Given the description of an element on the screen output the (x, y) to click on. 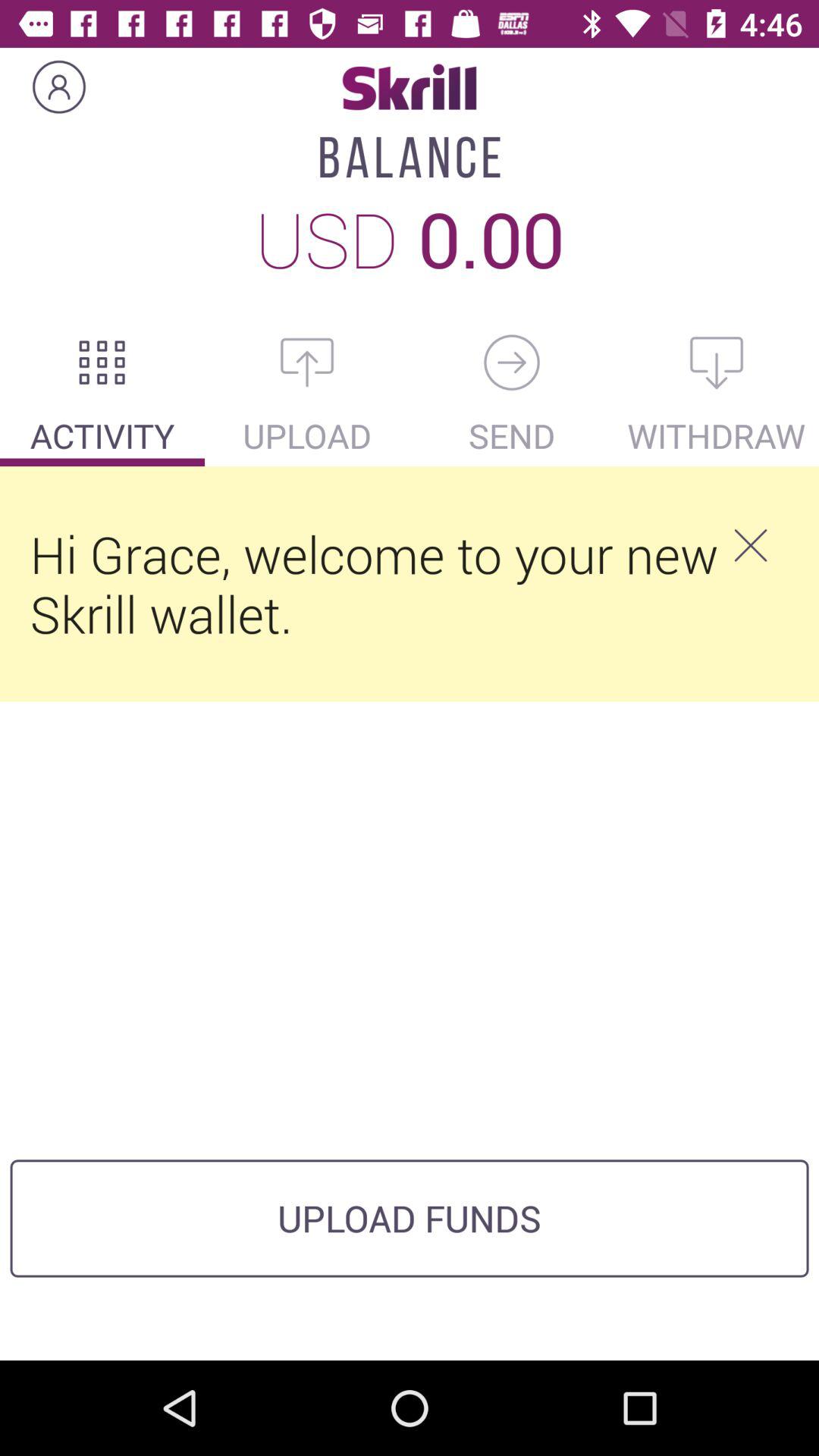
check activity (102, 362)
